Given the description of an element on the screen output the (x, y) to click on. 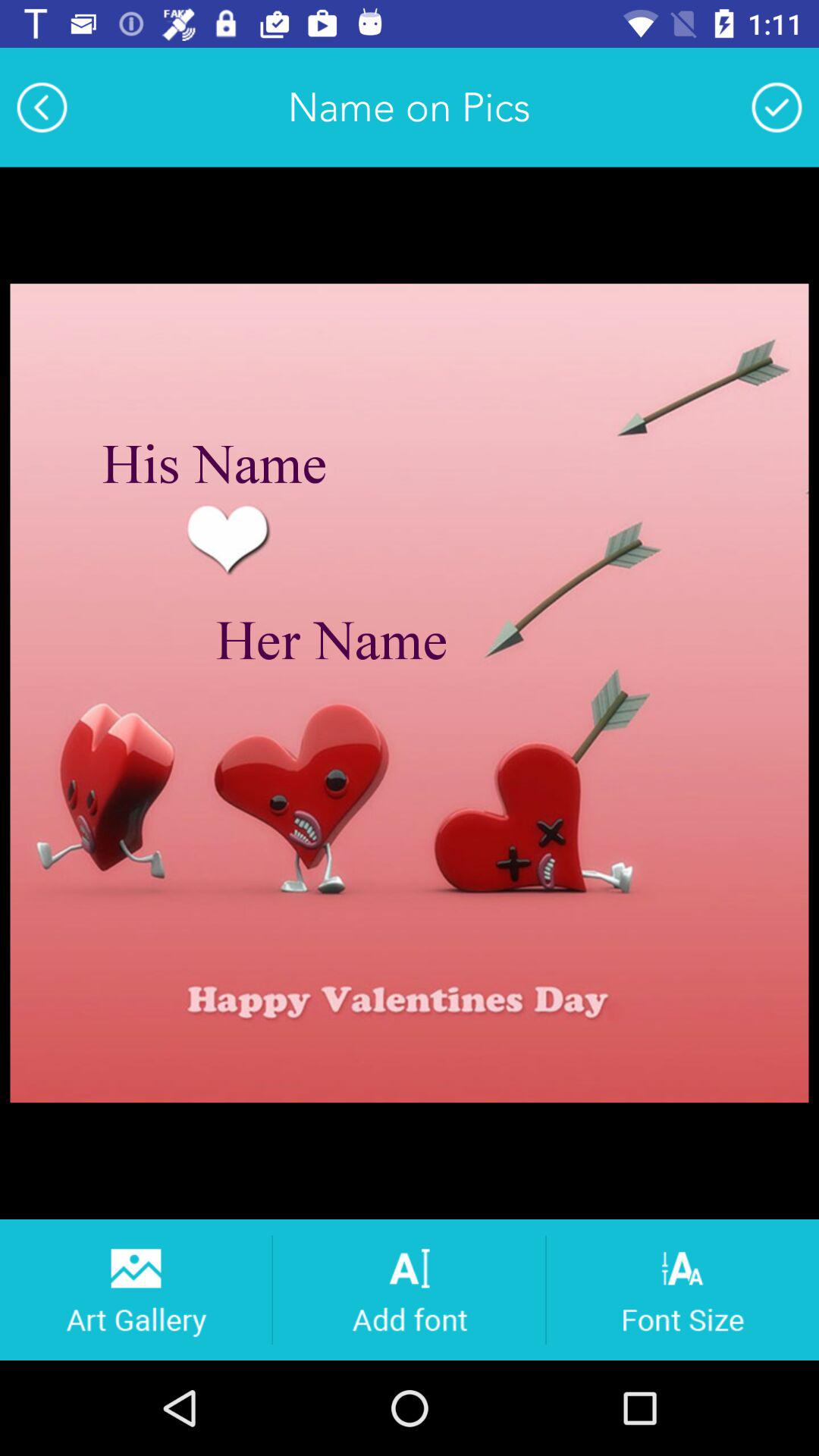
choose the icon at the top right corner (776, 107)
